Given the description of an element on the screen output the (x, y) to click on. 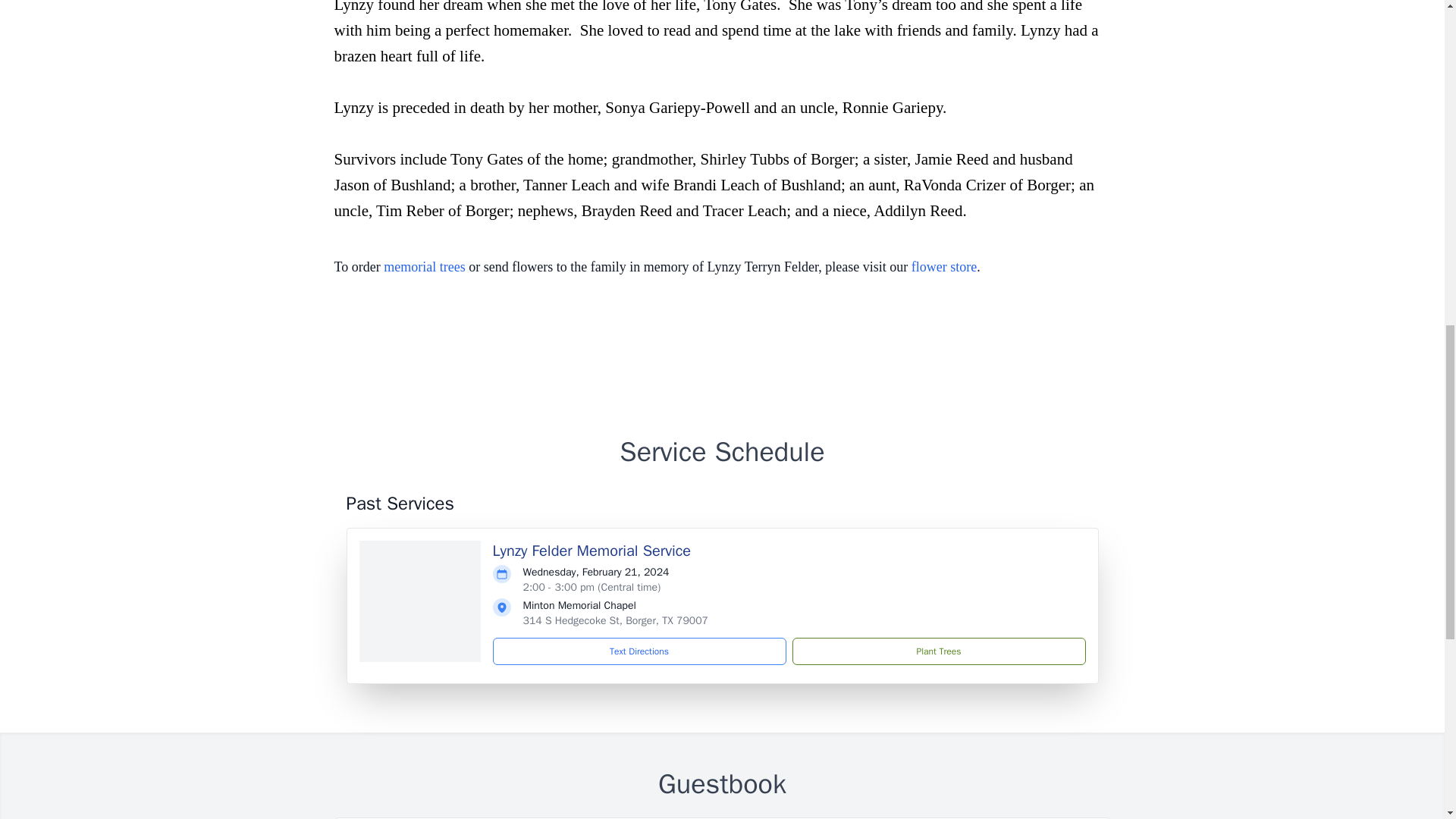
Plant Trees (938, 651)
Text Directions (639, 651)
flower store (943, 266)
314 S Hedgecoke St, Borger, TX 79007 (614, 620)
memorial trees (424, 266)
